Given the description of an element on the screen output the (x, y) to click on. 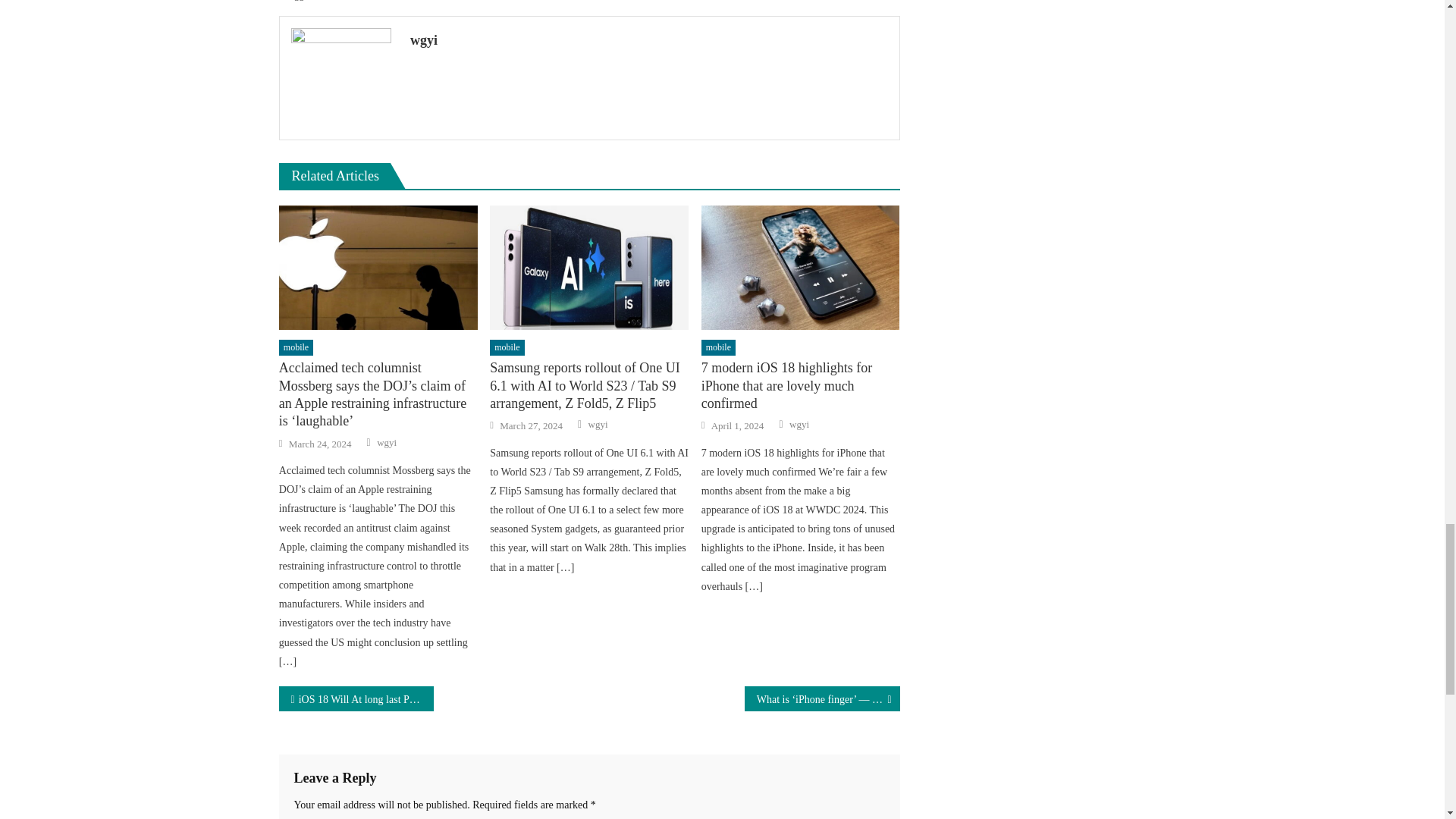
mobile (718, 347)
April 1, 2024 (737, 426)
wgyi (799, 424)
March 24, 2024 (320, 444)
wgyi (386, 442)
mobile (506, 347)
mobile (296, 347)
wgyi (649, 39)
March 27, 2024 (530, 426)
wgyi (598, 424)
